Given the description of an element on the screen output the (x, y) to click on. 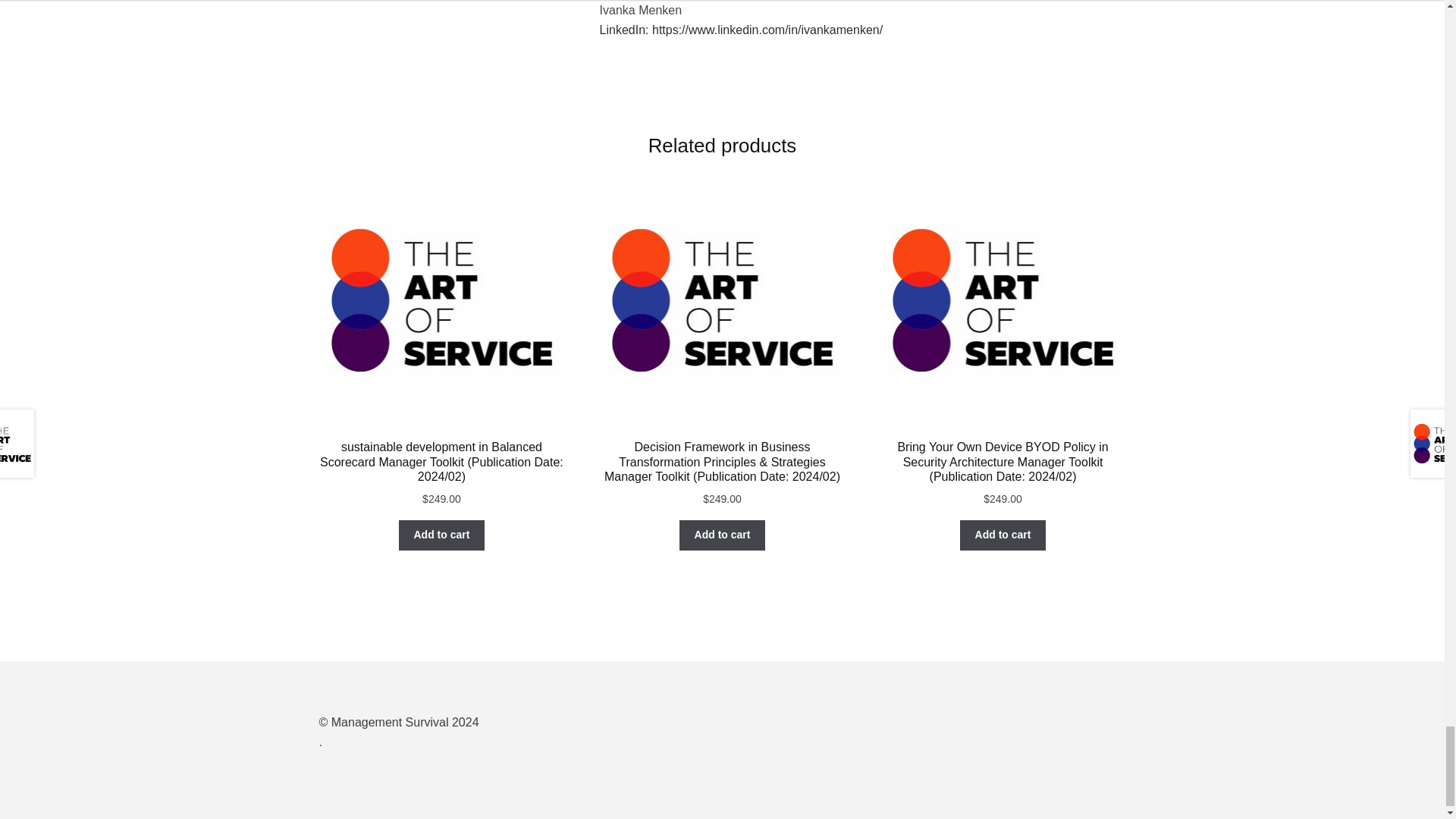
Add to cart (722, 535)
Add to cart (1002, 535)
Add to cart (441, 535)
